Given the description of an element on the screen output the (x, y) to click on. 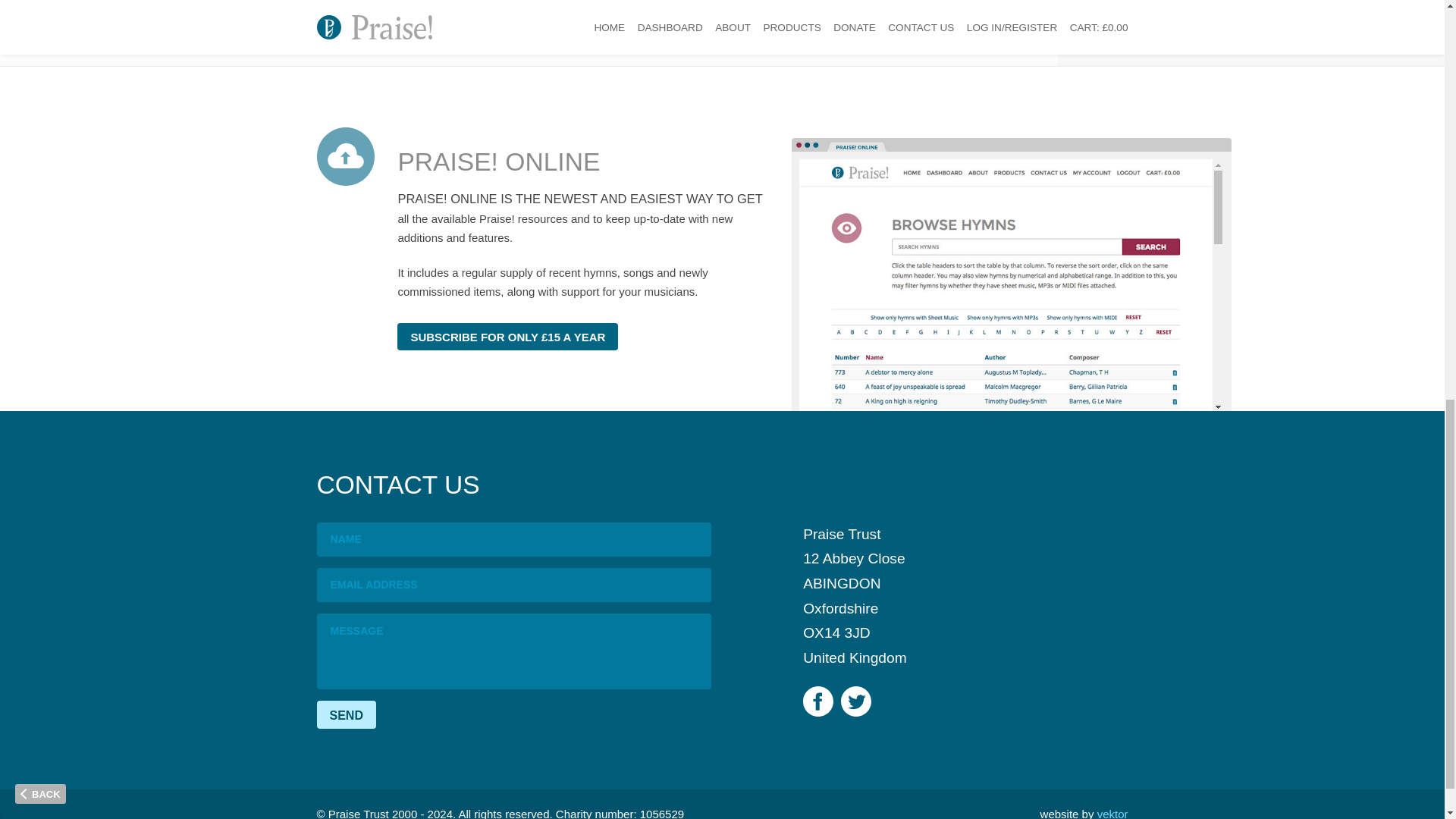
Twitter (855, 701)
Facebook (817, 701)
Send (346, 714)
